Given the description of an element on the screen output the (x, y) to click on. 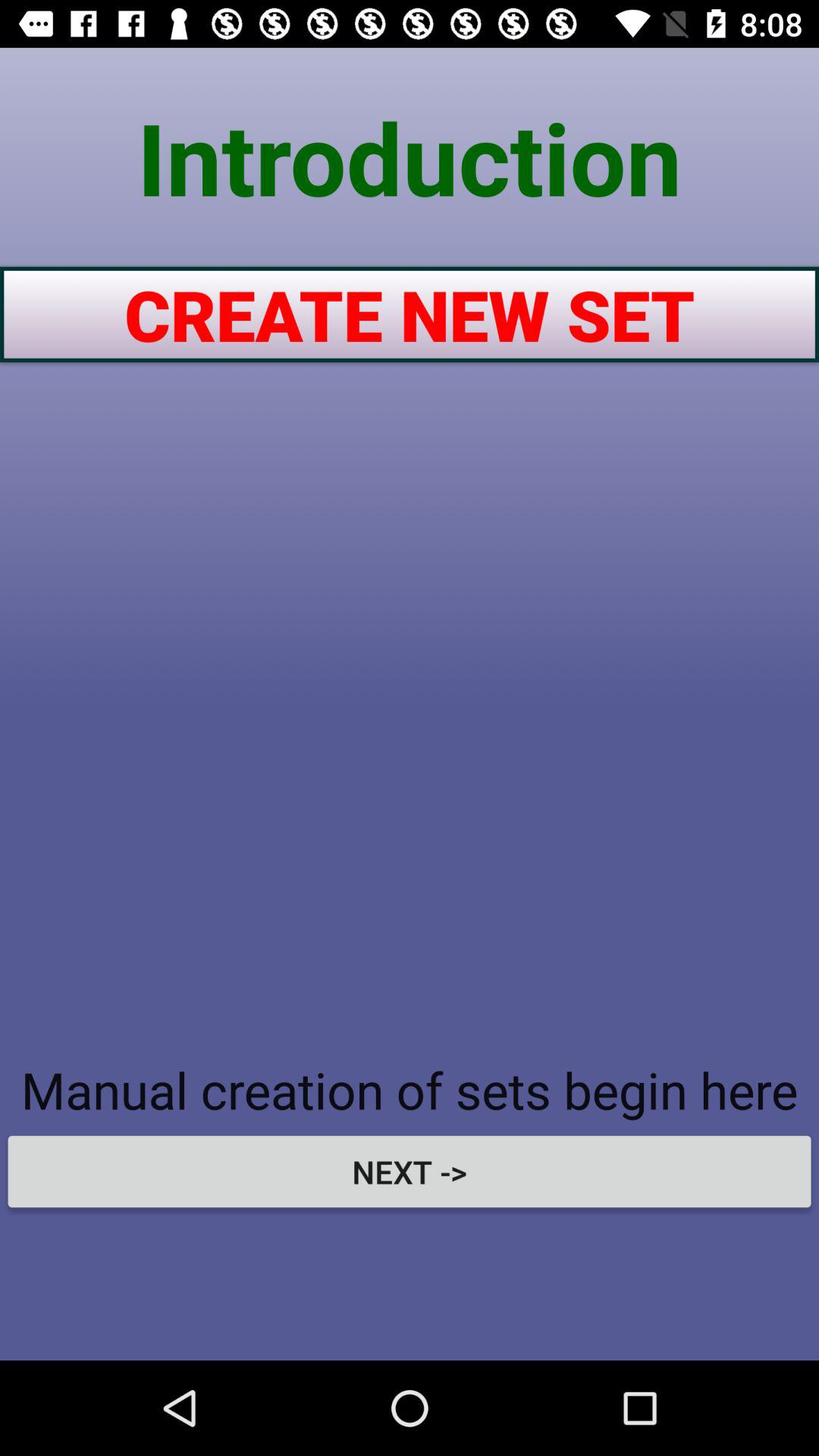
click icon above manual creation of item (409, 314)
